Given the description of an element on the screen output the (x, y) to click on. 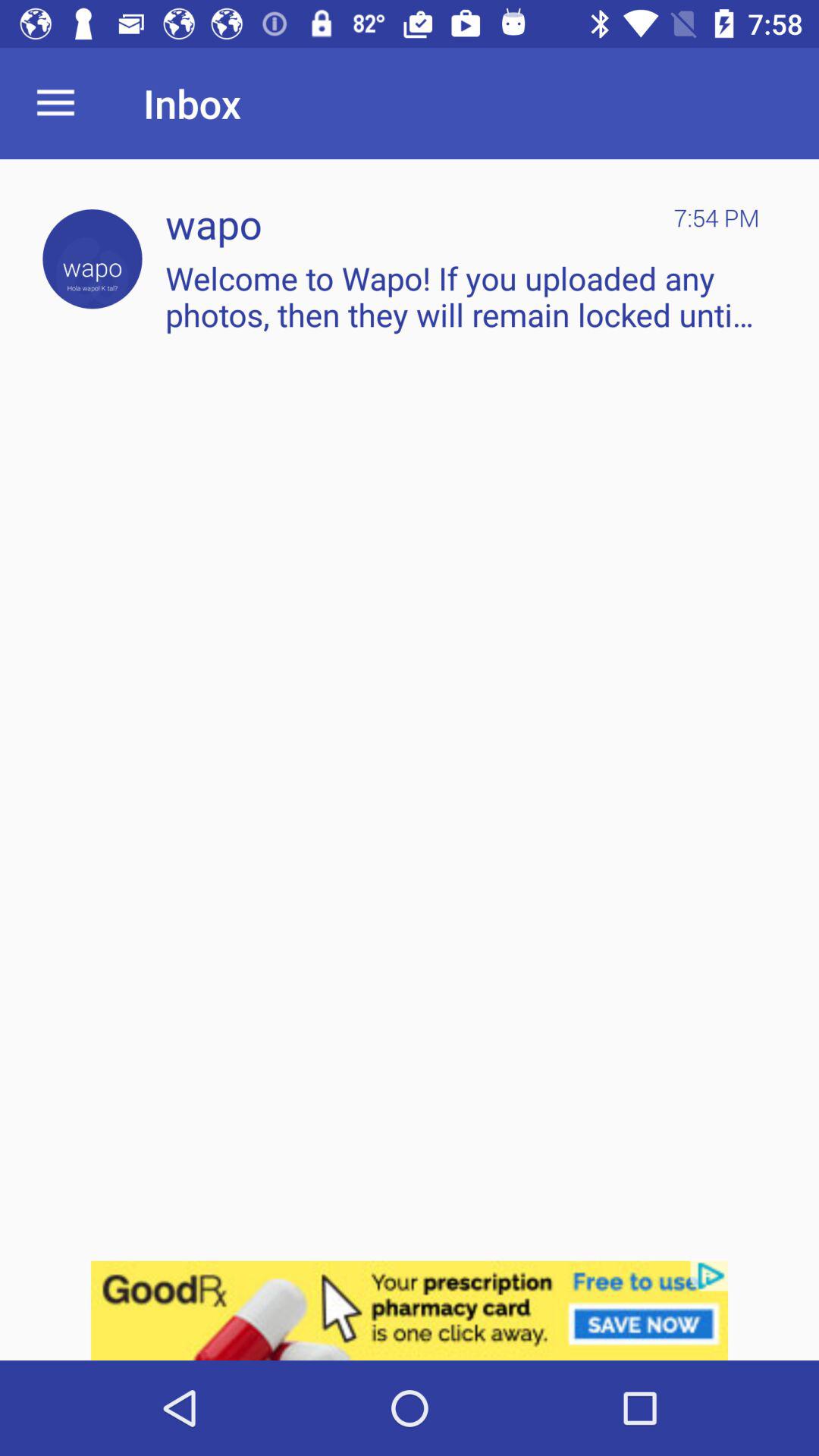
add icone (409, 1310)
